Given the description of an element on the screen output the (x, y) to click on. 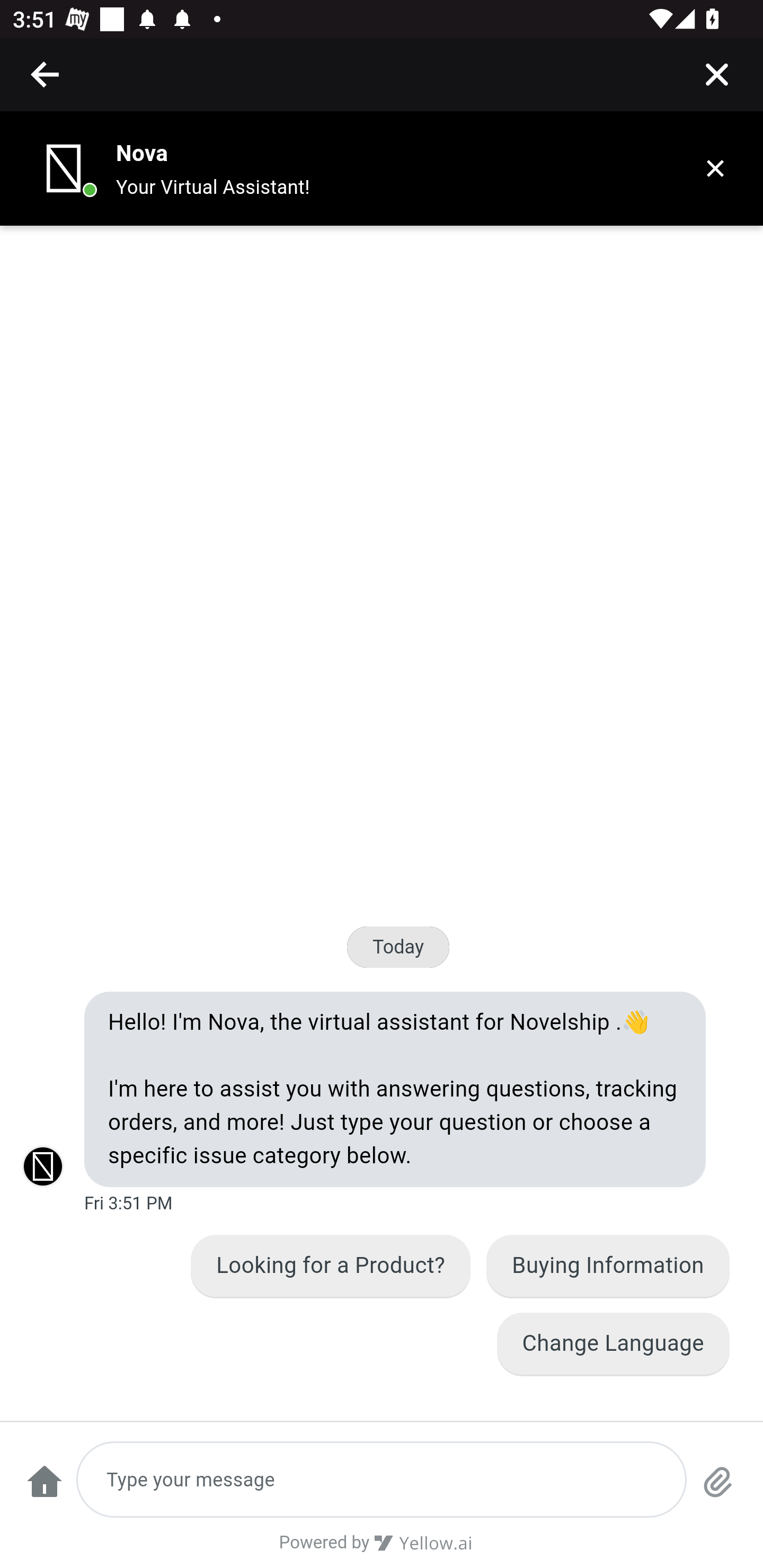
 (46, 74)
 (716, 74)
Nova bot icon (63, 168)
close bot (715, 168)
Looking for a Product? (331, 1265)
Buying Information (607, 1265)
Change Language (612, 1343)
restart conversation (44, 1489)
upload file (718, 1489)
Powered by (381, 1549)
